Given the description of an element on the screen output the (x, y) to click on. 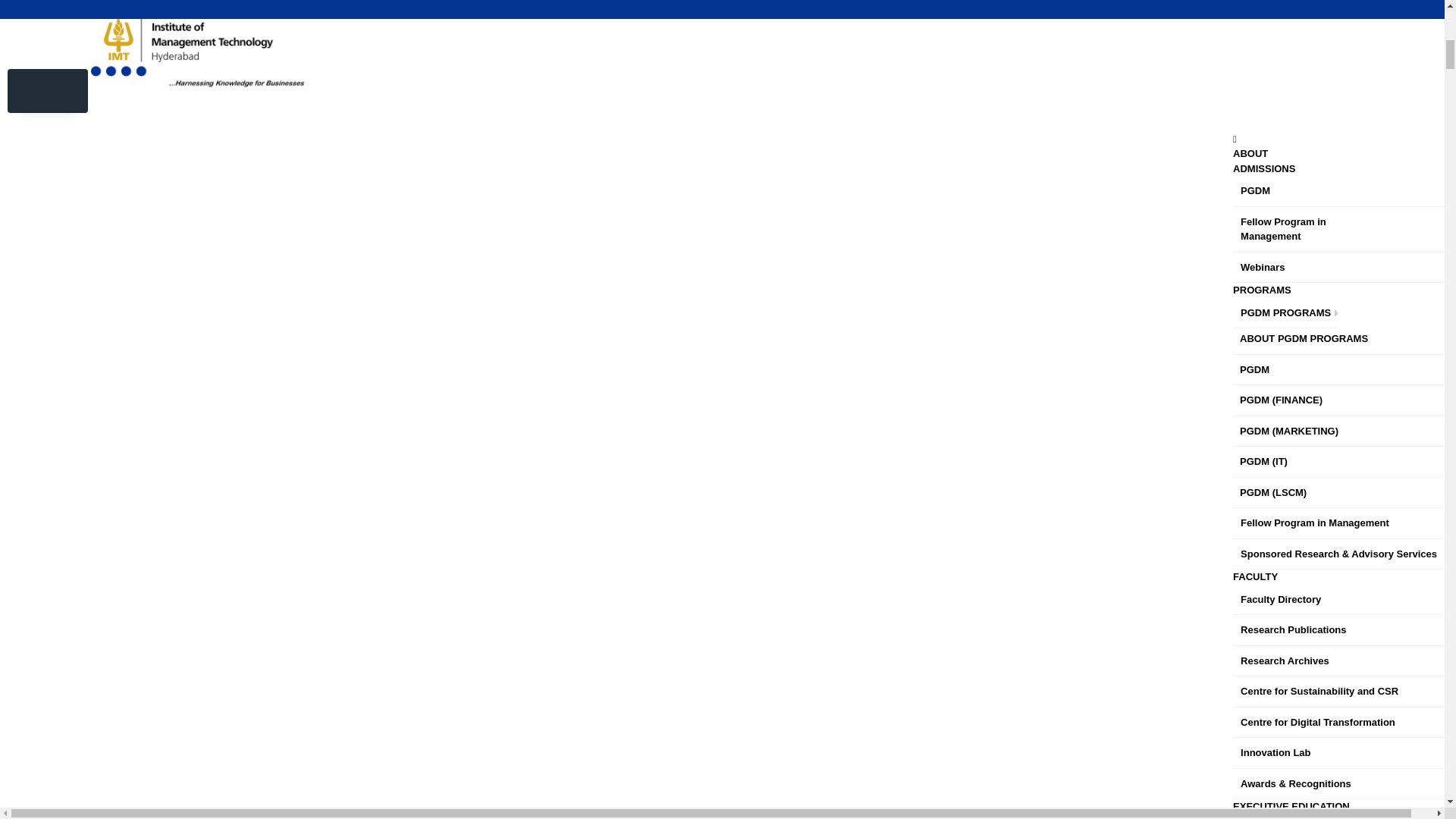
Certificate Programs (1337, 75)
Future Leaders Program (1289, 42)
Sales and Marketing (1302, 13)
